Given the description of an element on the screen output the (x, y) to click on. 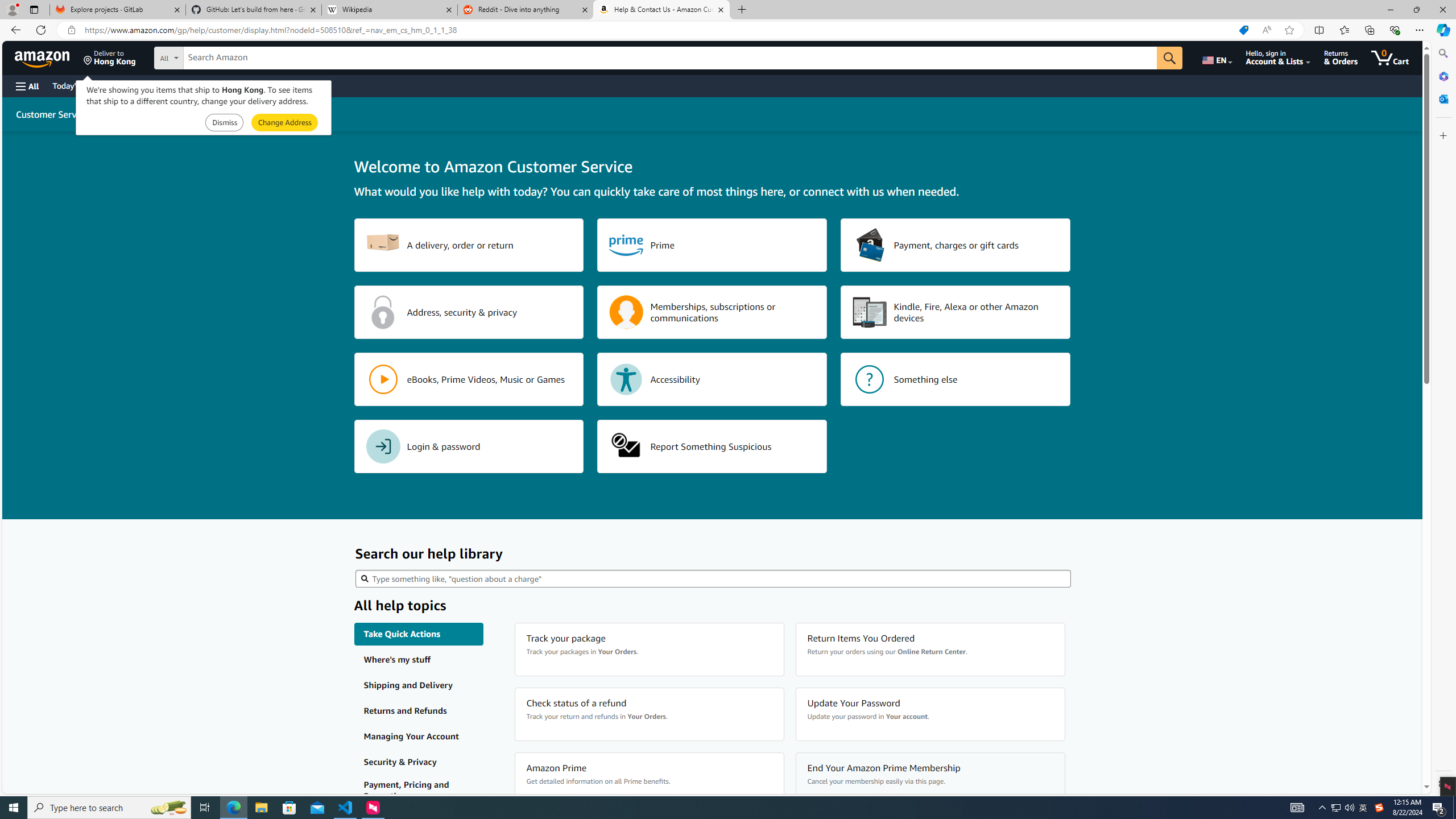
A delivery, order or return (468, 244)
Registry (205, 85)
Choose a language for shopping. (1216, 57)
Digital Services and Device Support (228, 114)
Search Amazon (670, 57)
Something else (955, 379)
Report Something Suspicious (711, 446)
Customer Service (52, 114)
